Given the description of an element on the screen output the (x, y) to click on. 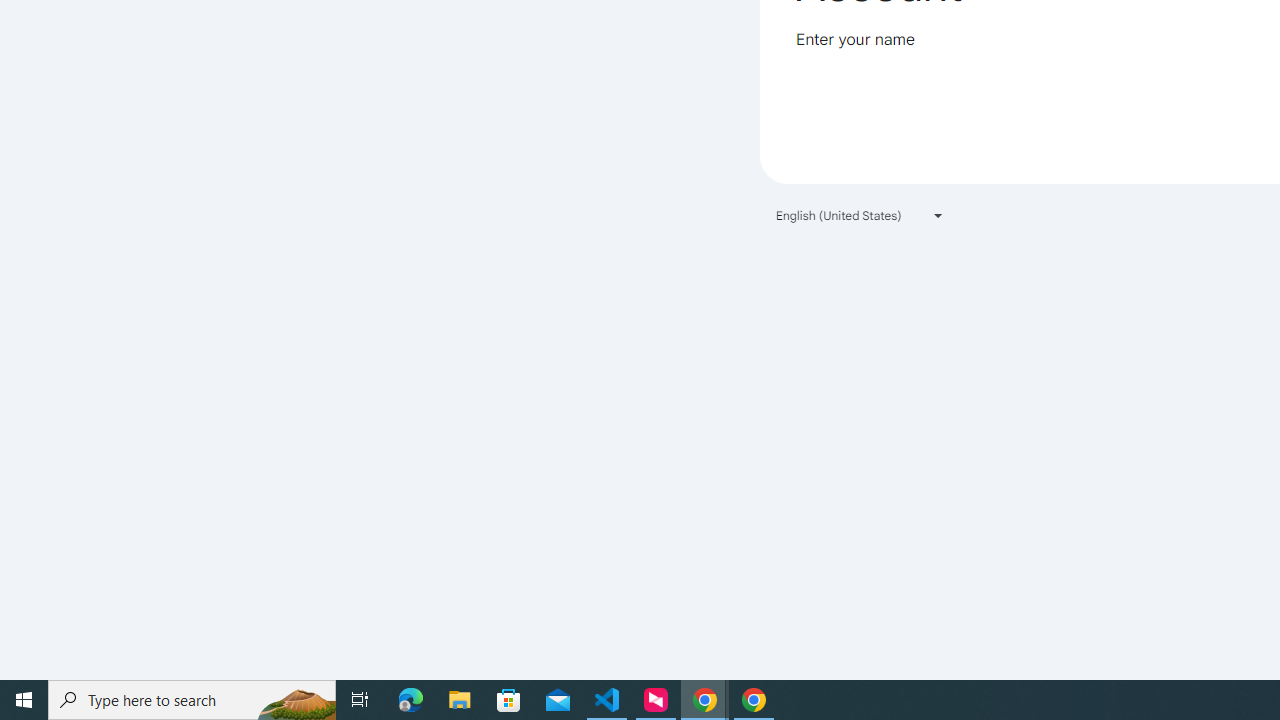
English (United States) (860, 214)
